Given the description of an element on the screen output the (x, y) to click on. 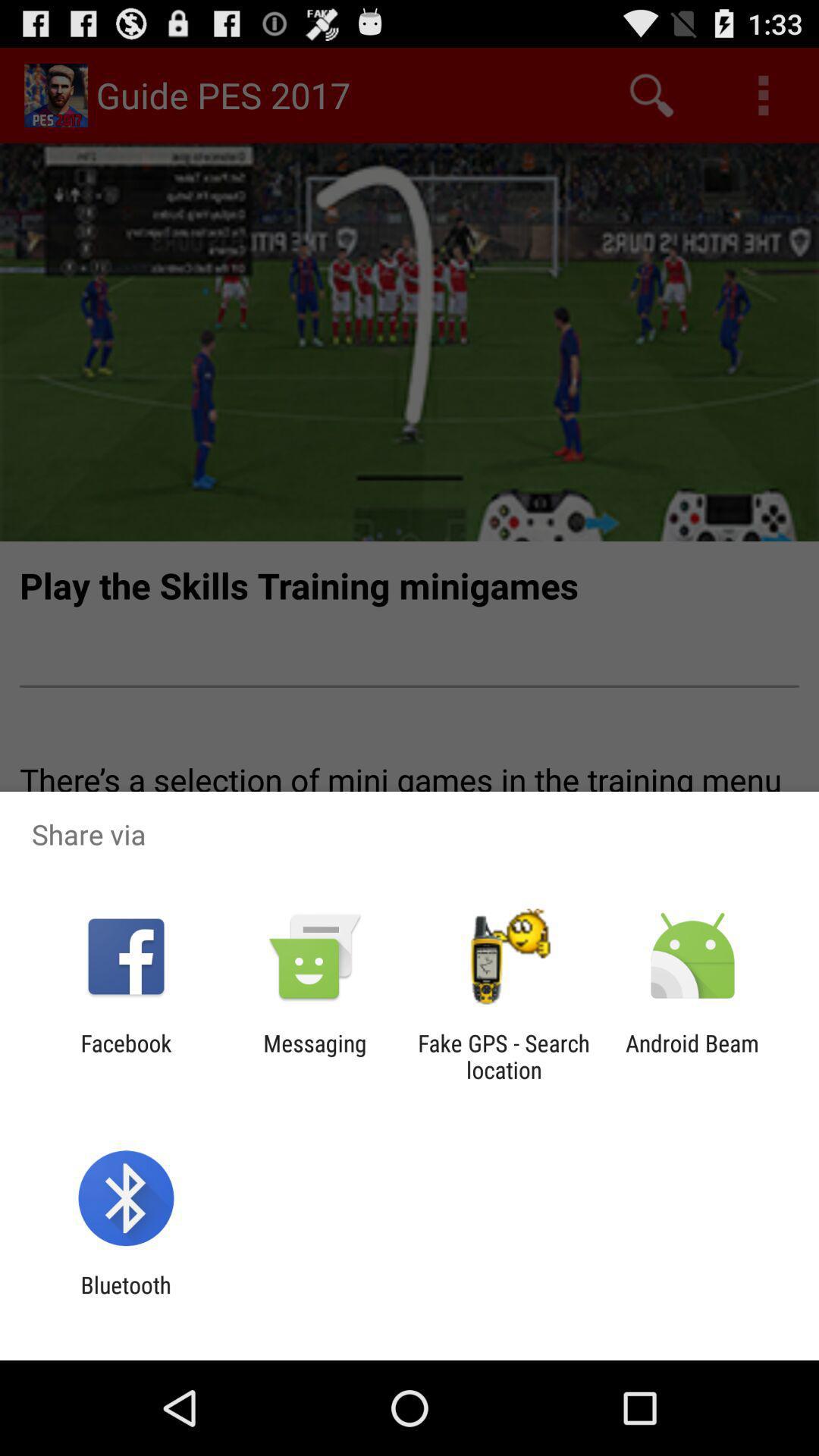
select the icon next to fake gps search icon (314, 1056)
